Given the description of an element on the screen output the (x, y) to click on. 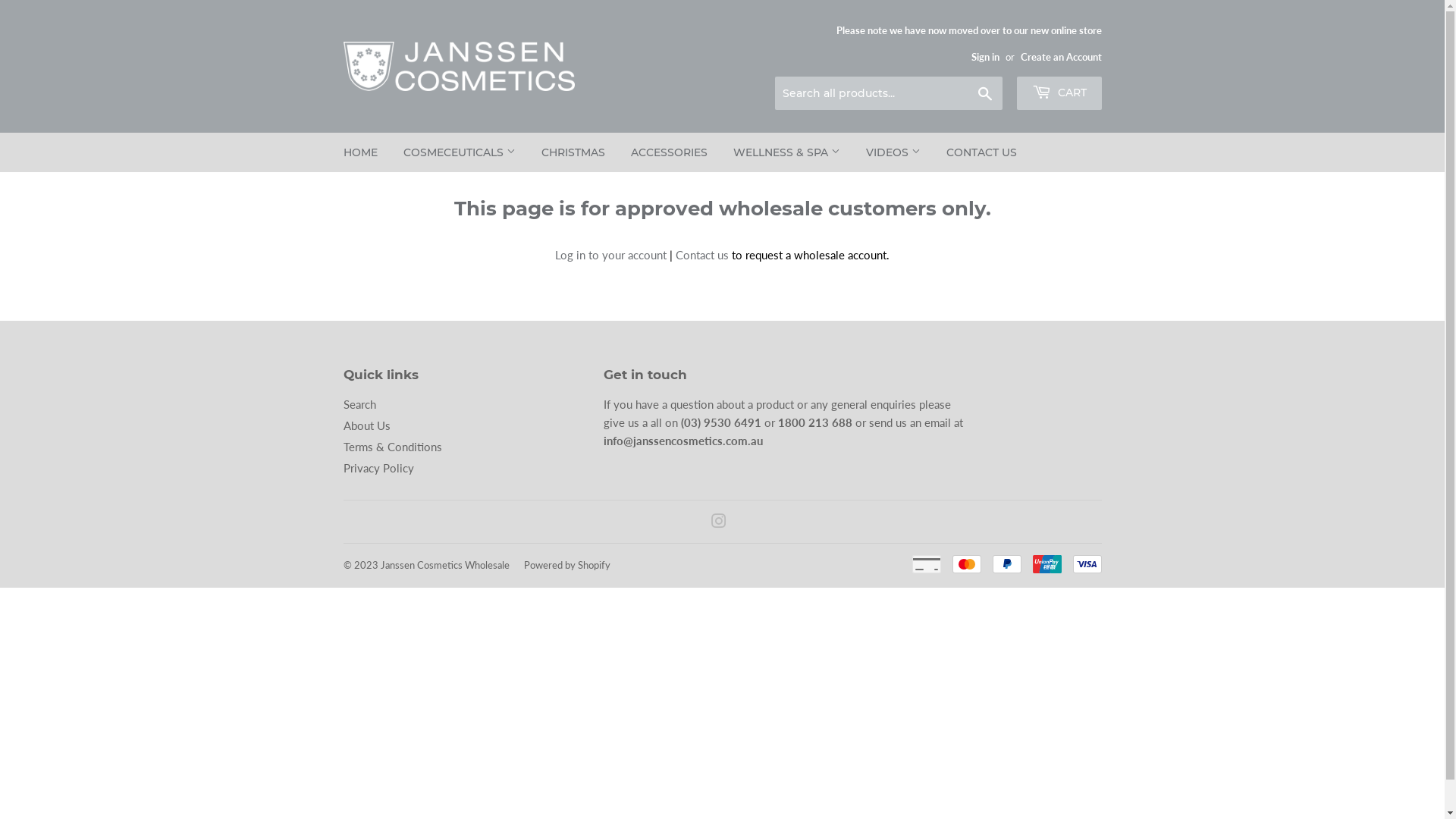
Please note we have now moved over to our new online store Element type: text (968, 42)
Contact us Element type: text (701, 254)
Search Element type: text (358, 404)
WELLNESS & SPA Element type: text (786, 152)
CART Element type: text (1058, 92)
CONTACT US Element type: text (980, 152)
About Us Element type: text (365, 425)
COSMECEUTICALS Element type: text (458, 152)
Powered by Shopify Element type: text (566, 564)
Search Element type: text (984, 93)
Create an Account Element type: text (1060, 56)
HOME Element type: text (360, 152)
ACCESSORIES Element type: text (668, 152)
Log in to your account Element type: text (610, 254)
Janssen Cosmetics Wholesale Element type: text (444, 564)
Instagram Element type: text (718, 522)
Terms & Conditions Element type: text (391, 446)
CHRISTMAS Element type: text (572, 152)
Sign in Element type: text (984, 56)
VIDEOS Element type: text (892, 152)
Privacy Policy Element type: text (377, 467)
